Given the description of an element on the screen output the (x, y) to click on. 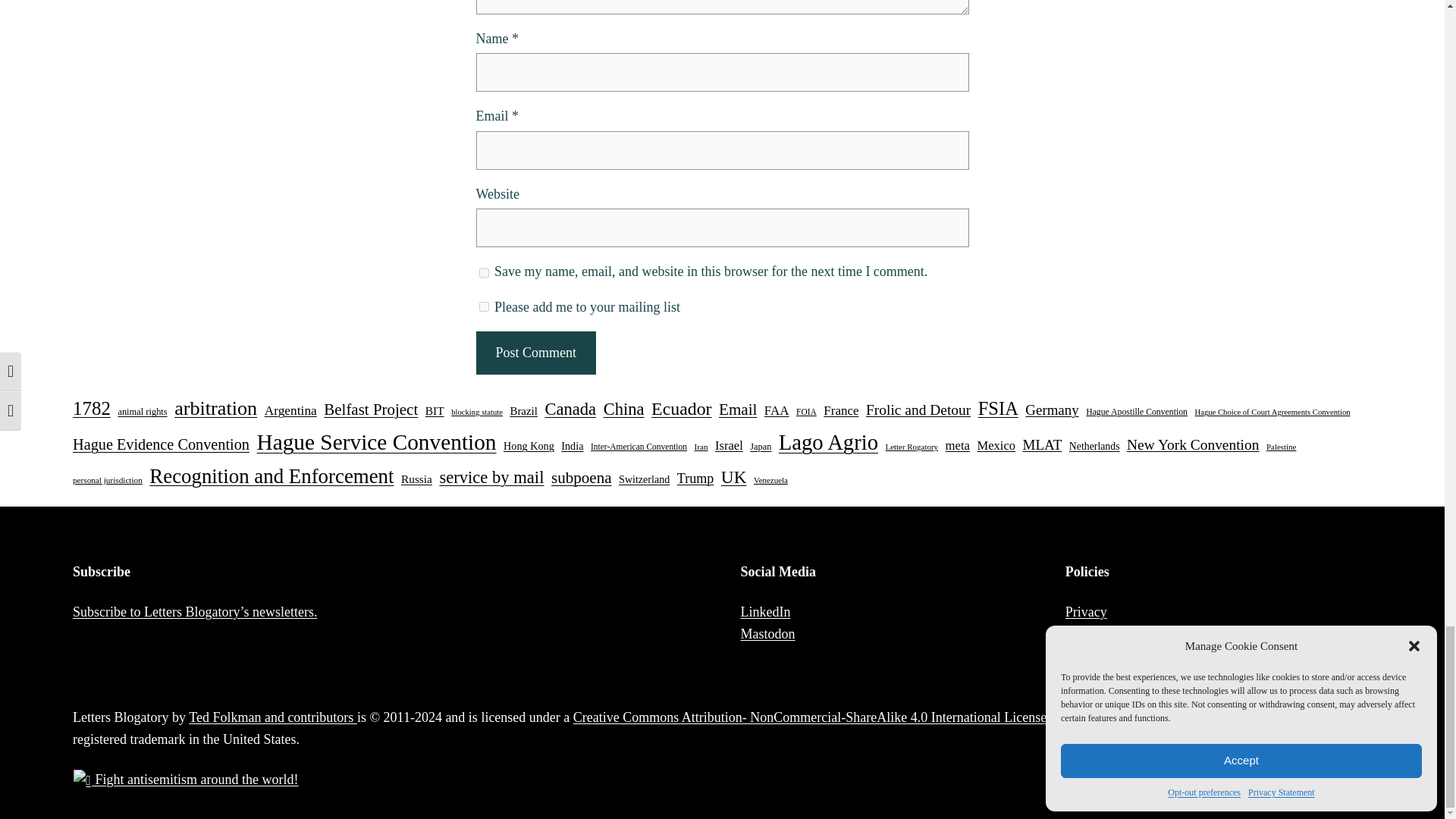
1 (484, 307)
Post Comment (535, 352)
yes (484, 272)
